Given the description of an element on the screen output the (x, y) to click on. 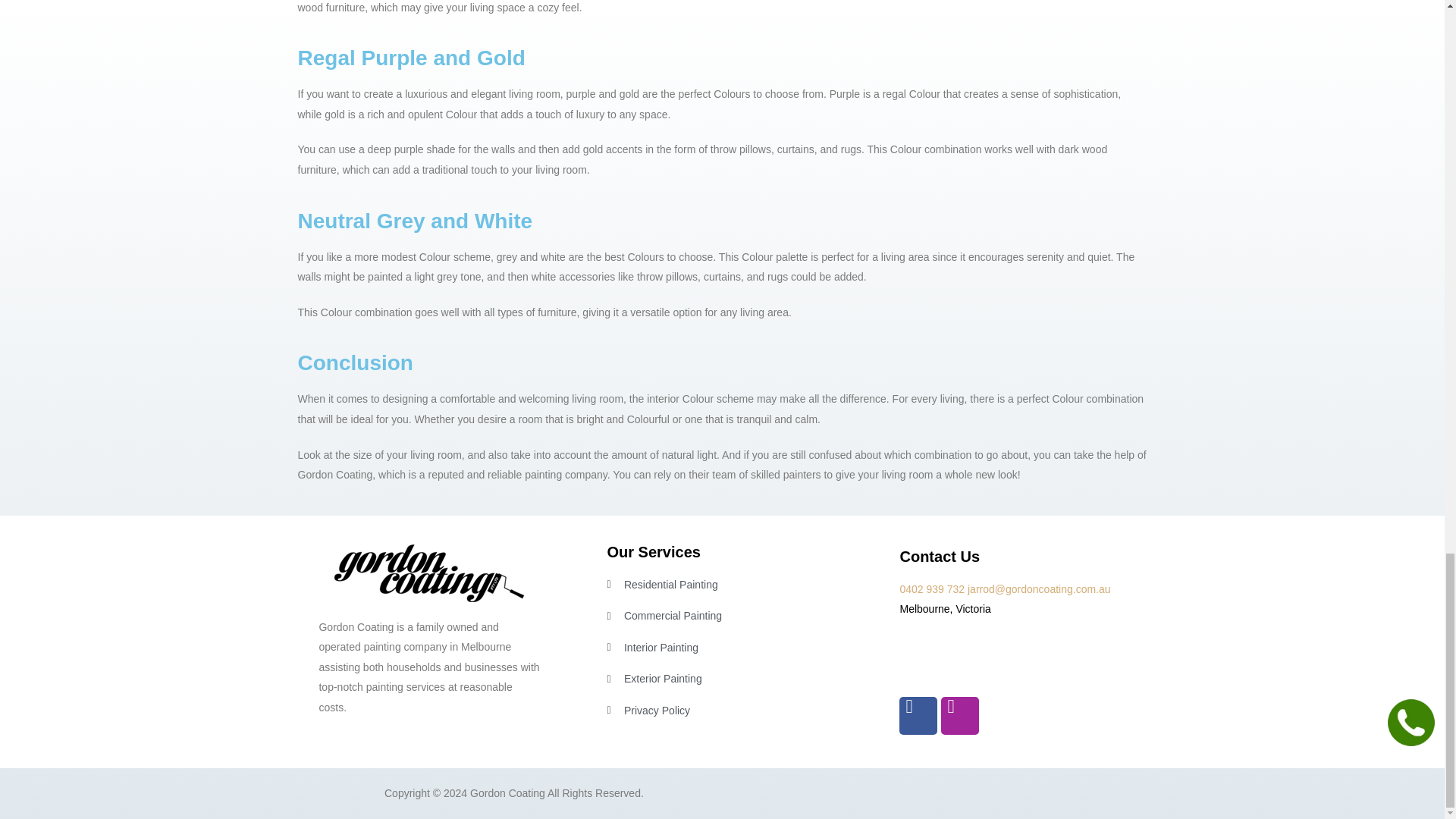
Exterior Painting (717, 679)
Interior Painting (717, 648)
Privacy Policy (717, 711)
Commercial Painting (717, 616)
Residential Painting (717, 584)
0402 939 732 (931, 589)
